Given the description of an element on the screen output the (x, y) to click on. 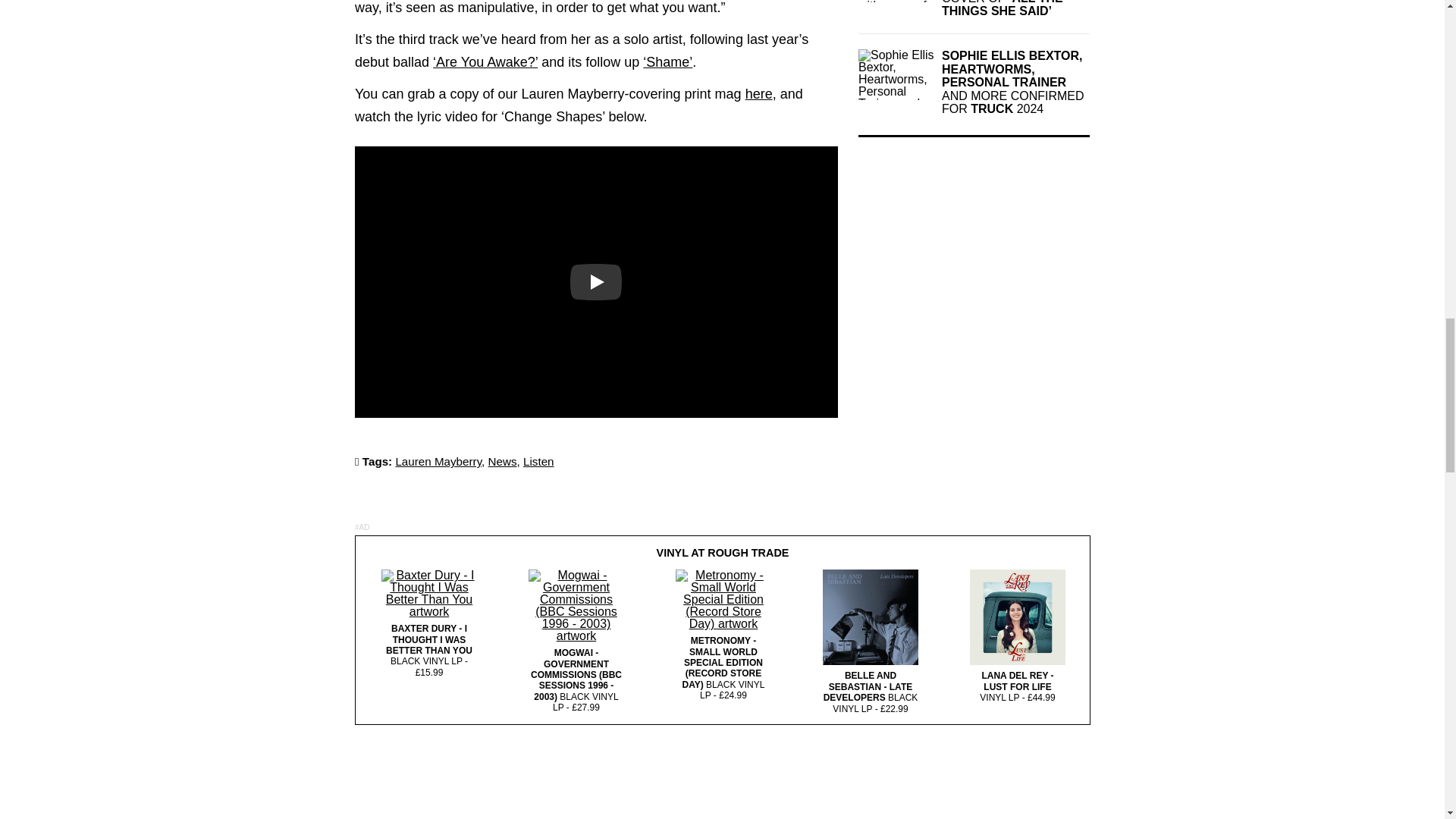
Play Video (595, 281)
here (759, 93)
Play Video (595, 281)
Lauren Mayberry (437, 461)
News (501, 461)
Listen (538, 461)
